Given the description of an element on the screen output the (x, y) to click on. 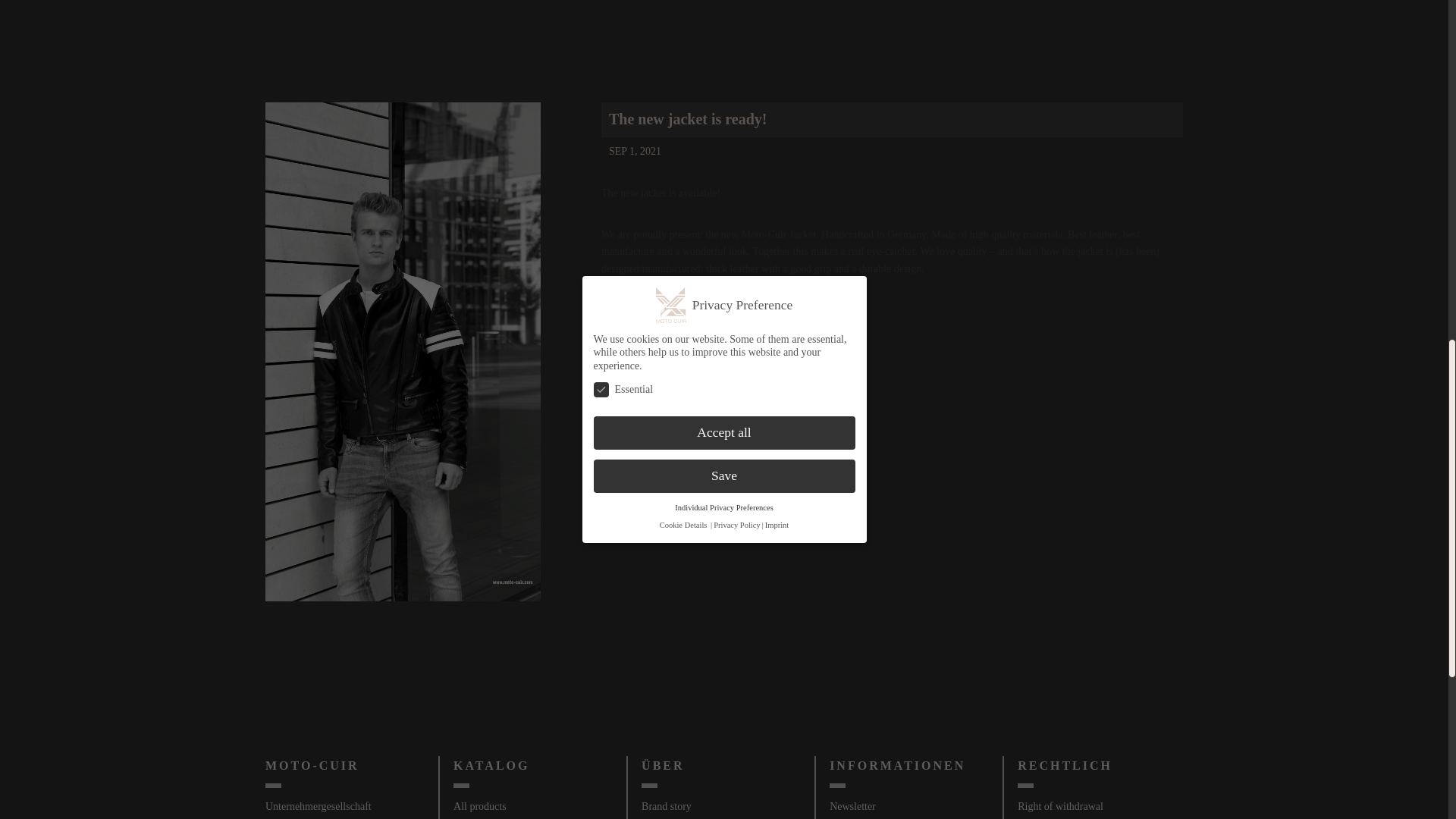
The new jacket is ready! (687, 118)
SEP 1, 2021 (631, 151)
All products (479, 806)
Brand story (666, 806)
Unternehmergesellschaft (317, 806)
Newsletter (852, 806)
